Given the description of an element on the screen output the (x, y) to click on. 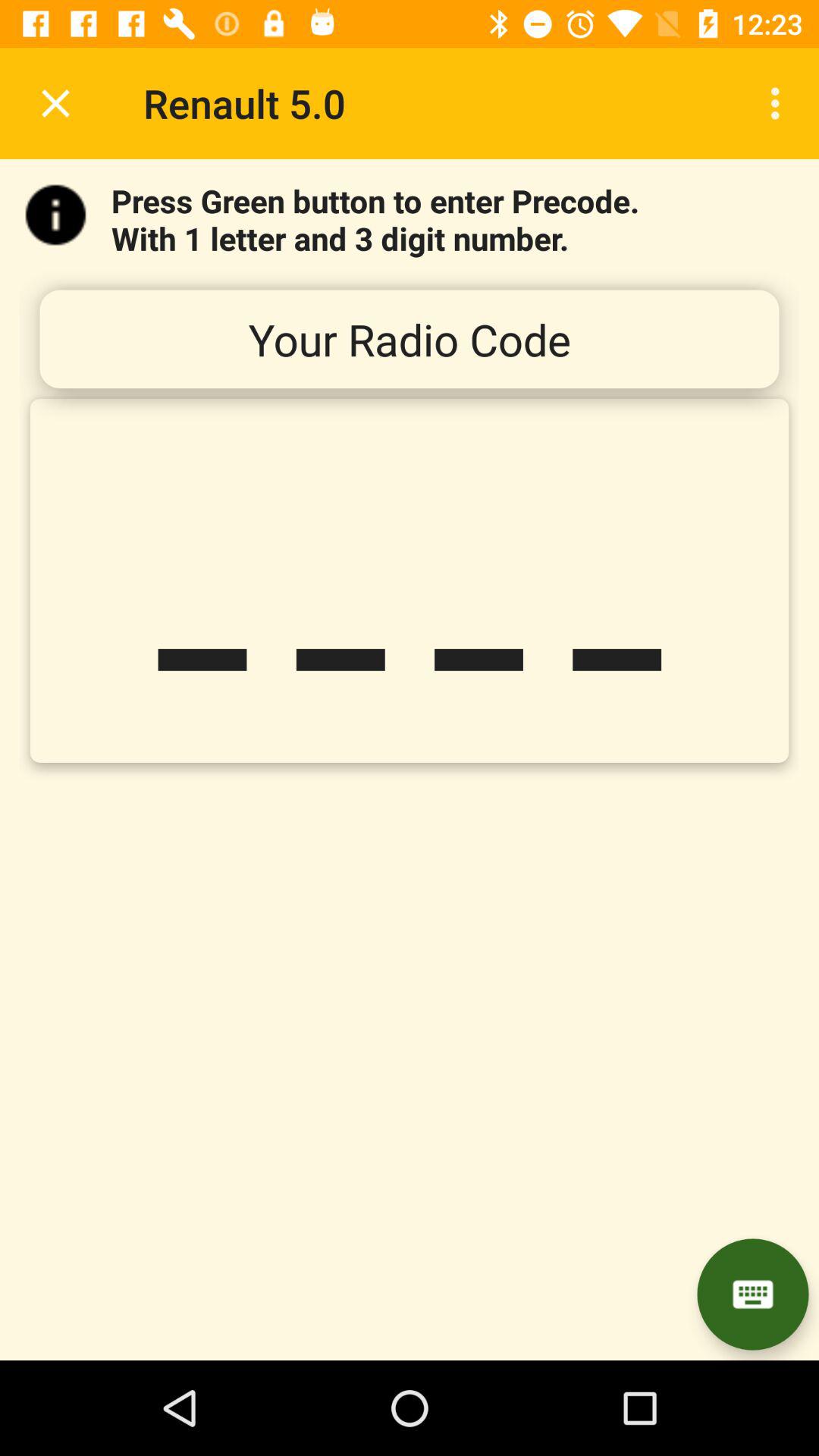
choose icon next to the renault 5.0 (55, 103)
